Given the description of an element on the screen output the (x, y) to click on. 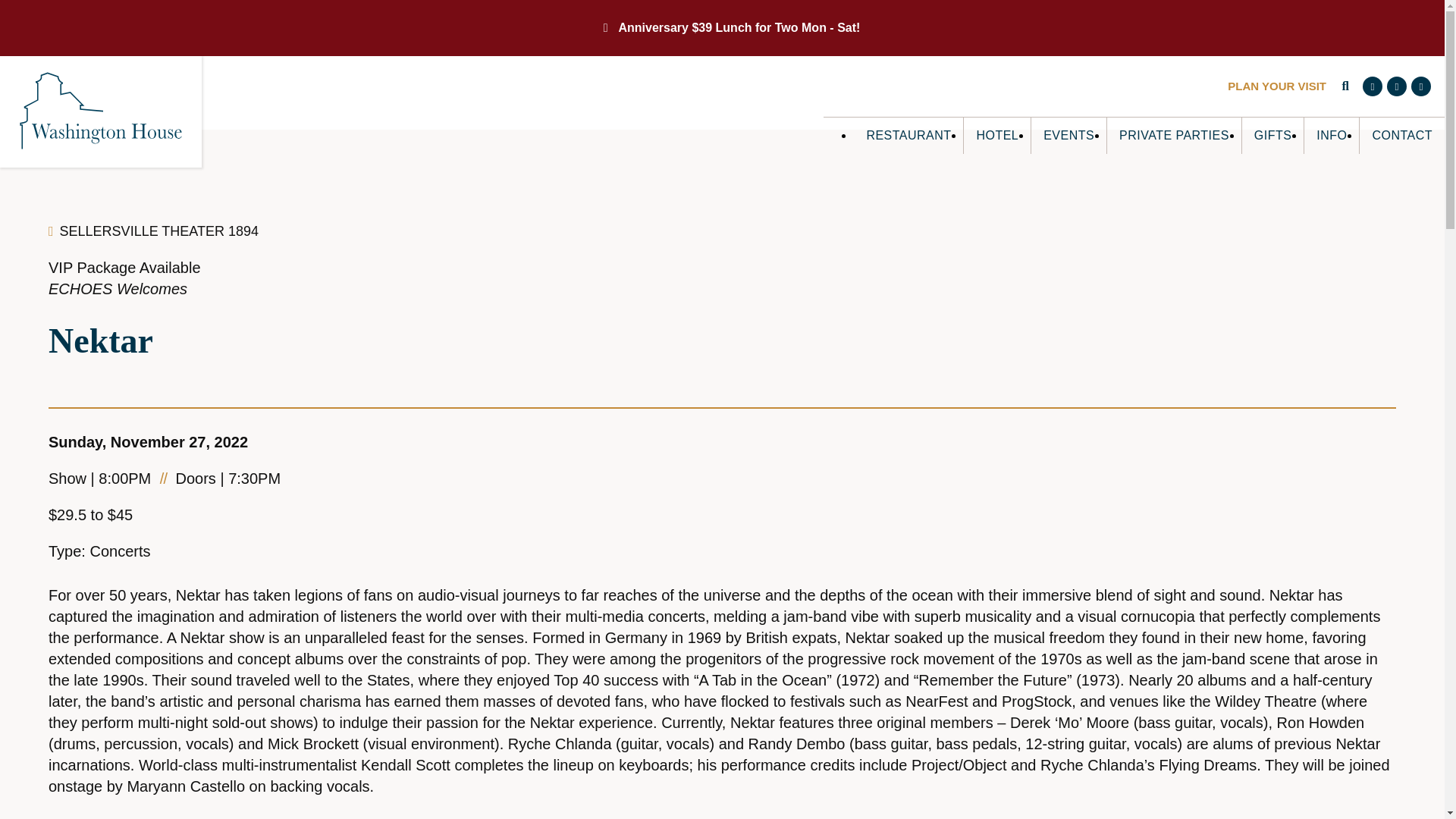
PLAN YOUR VISIT (1276, 85)
